Given the description of an element on the screen output the (x, y) to click on. 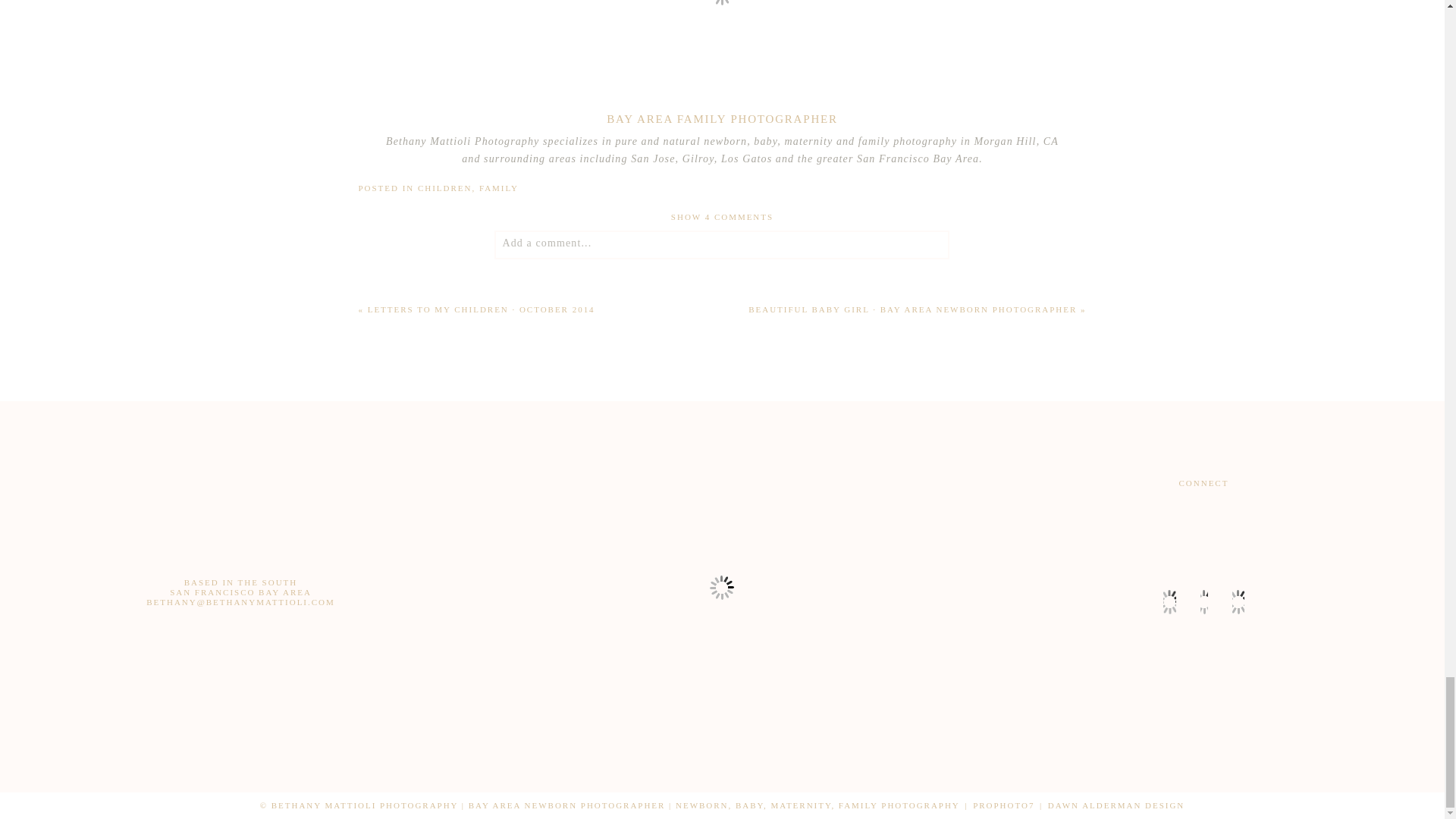
FAMILY (498, 187)
SHOW 4 COMMENTS (722, 216)
CHILDREN (444, 187)
ProPhoto Blog Template (1002, 804)
